Given the description of an element on the screen output the (x, y) to click on. 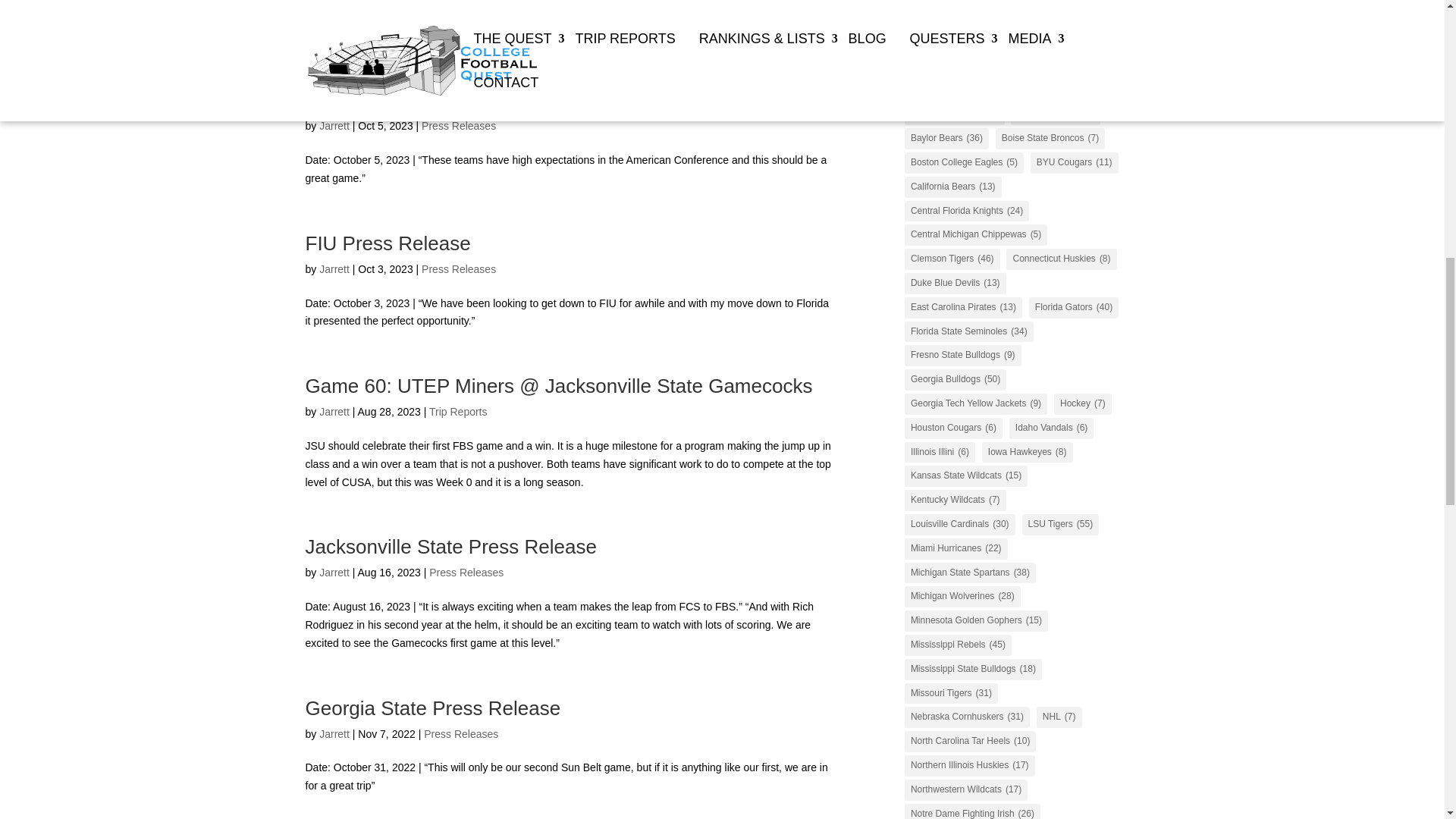
Posts by Jarrett (333, 734)
Posts by Jarrett (333, 411)
Posts by Jarrett (333, 125)
Posts by Jarrett (333, 572)
Posts by Jarrett (333, 268)
